Given the description of an element on the screen output the (x, y) to click on. 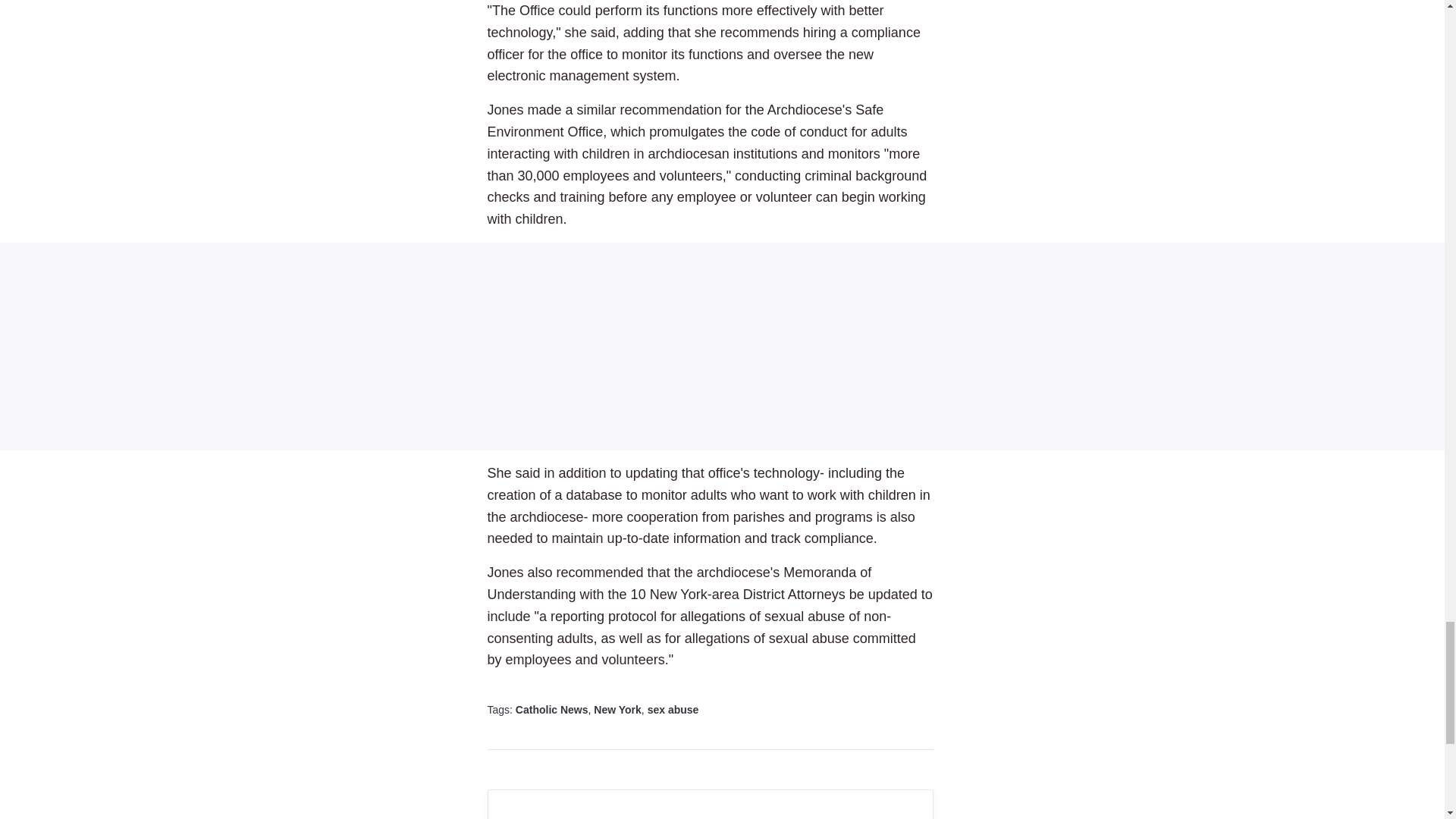
3rd party ad content (721, 346)
